Given the description of an element on the screen output the (x, y) to click on. 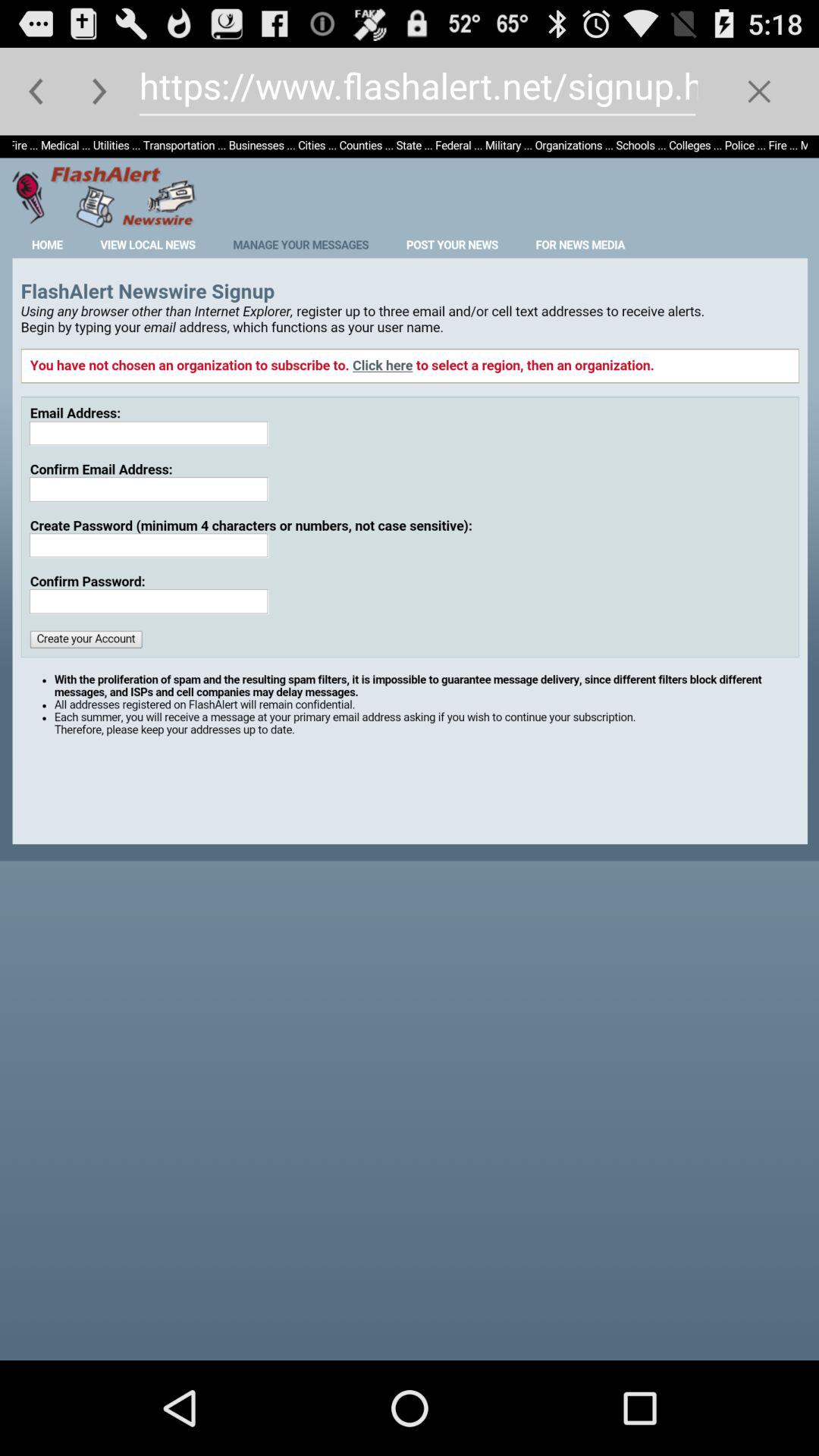
close window (759, 91)
